Given the description of an element on the screen output the (x, y) to click on. 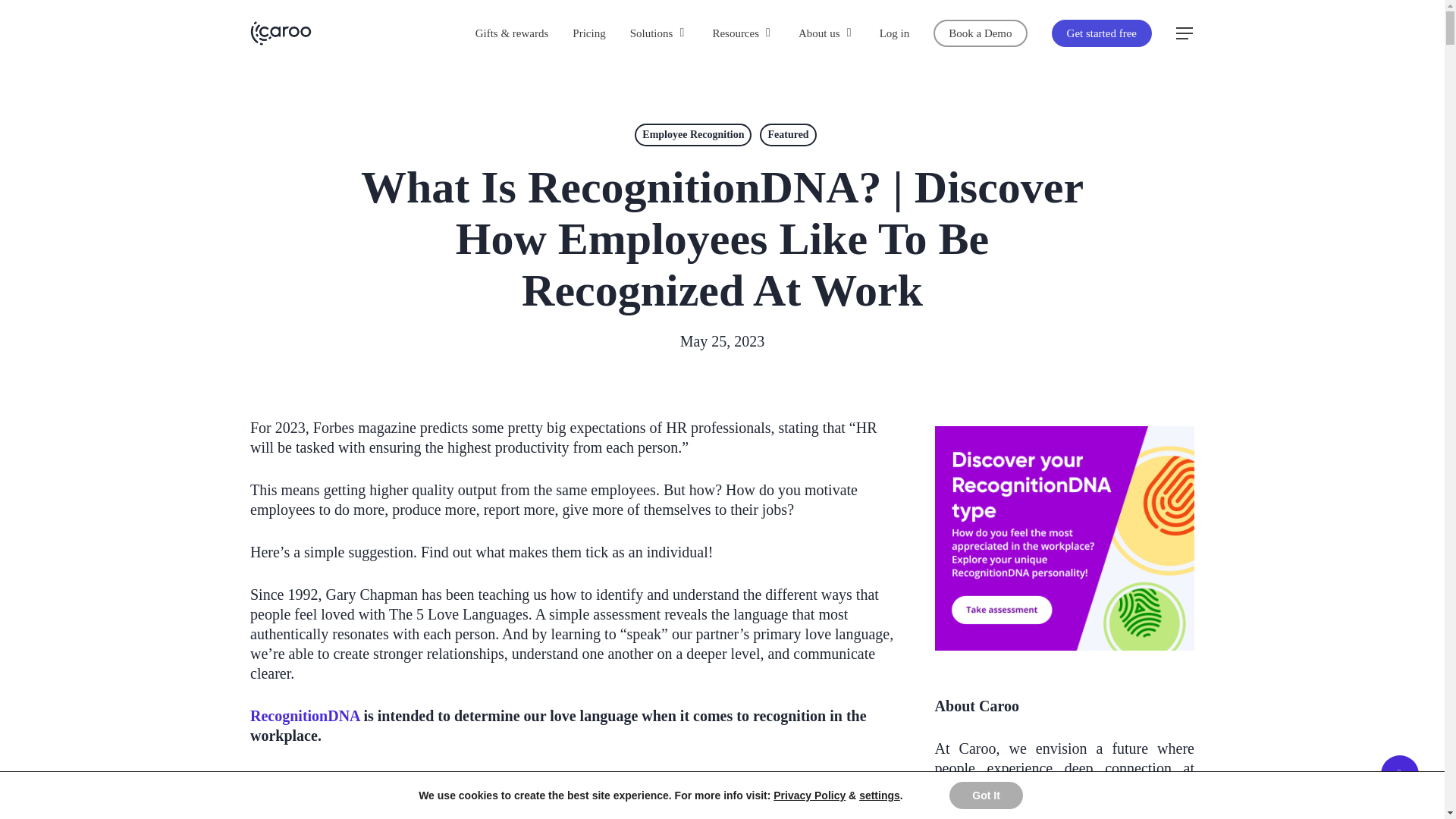
Pricing (588, 33)
Get started free (1101, 33)
Chat Widget (1406, 782)
Employee Recognition (692, 134)
Log in (894, 33)
Book a Demo (979, 33)
Resources (742, 33)
Featured (787, 134)
Solutions (659, 33)
About us (826, 33)
Menu (1184, 33)
